Given the description of an element on the screen output the (x, y) to click on. 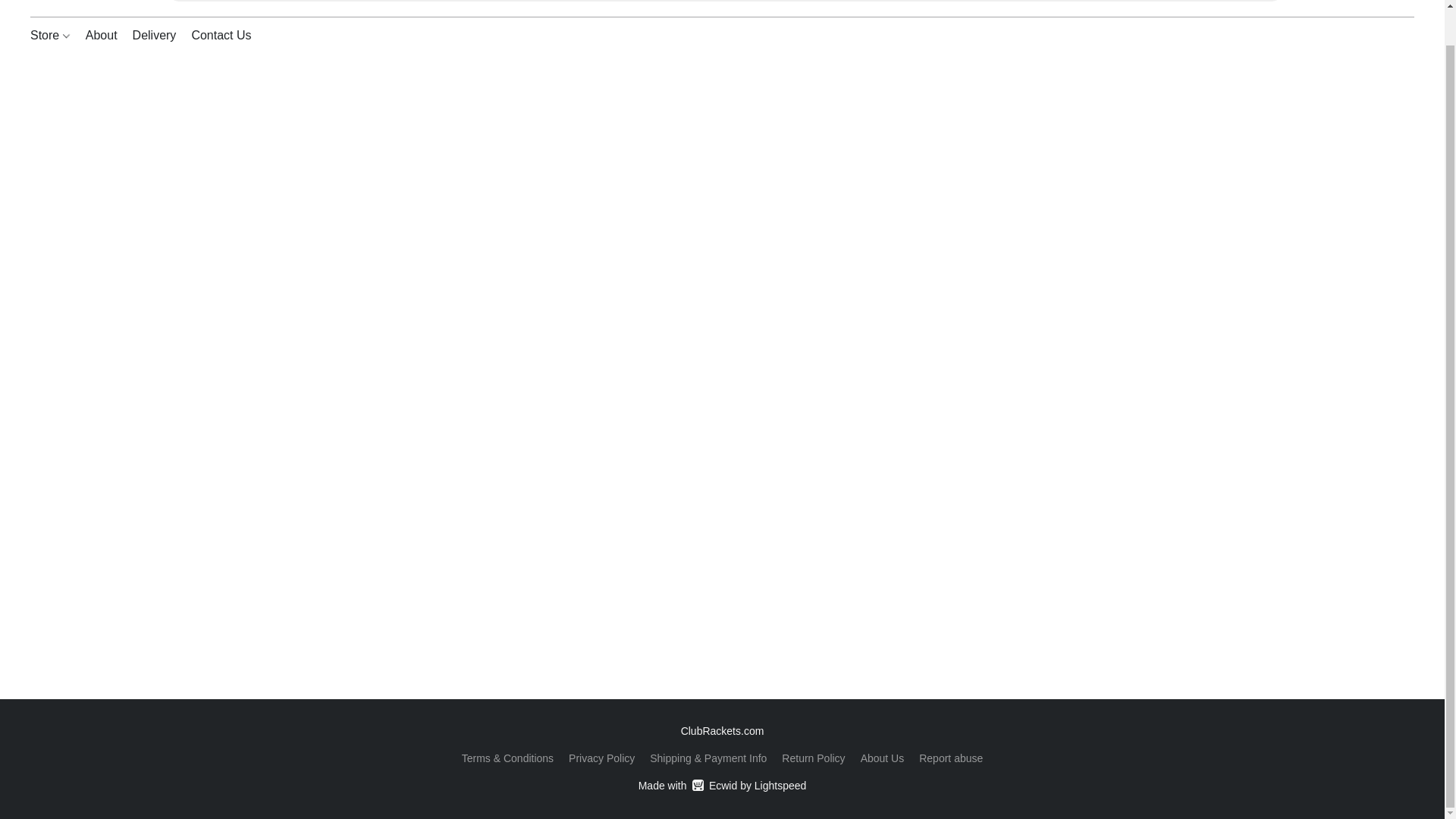
Go to your shopping cart (1404, 3)
About Us (882, 758)
About (101, 35)
Report abuse (950, 758)
Store (54, 35)
Return Policy (812, 758)
Delivery (722, 785)
Privacy Policy (154, 35)
Contact Us (601, 758)
